Given the description of an element on the screen output the (x, y) to click on. 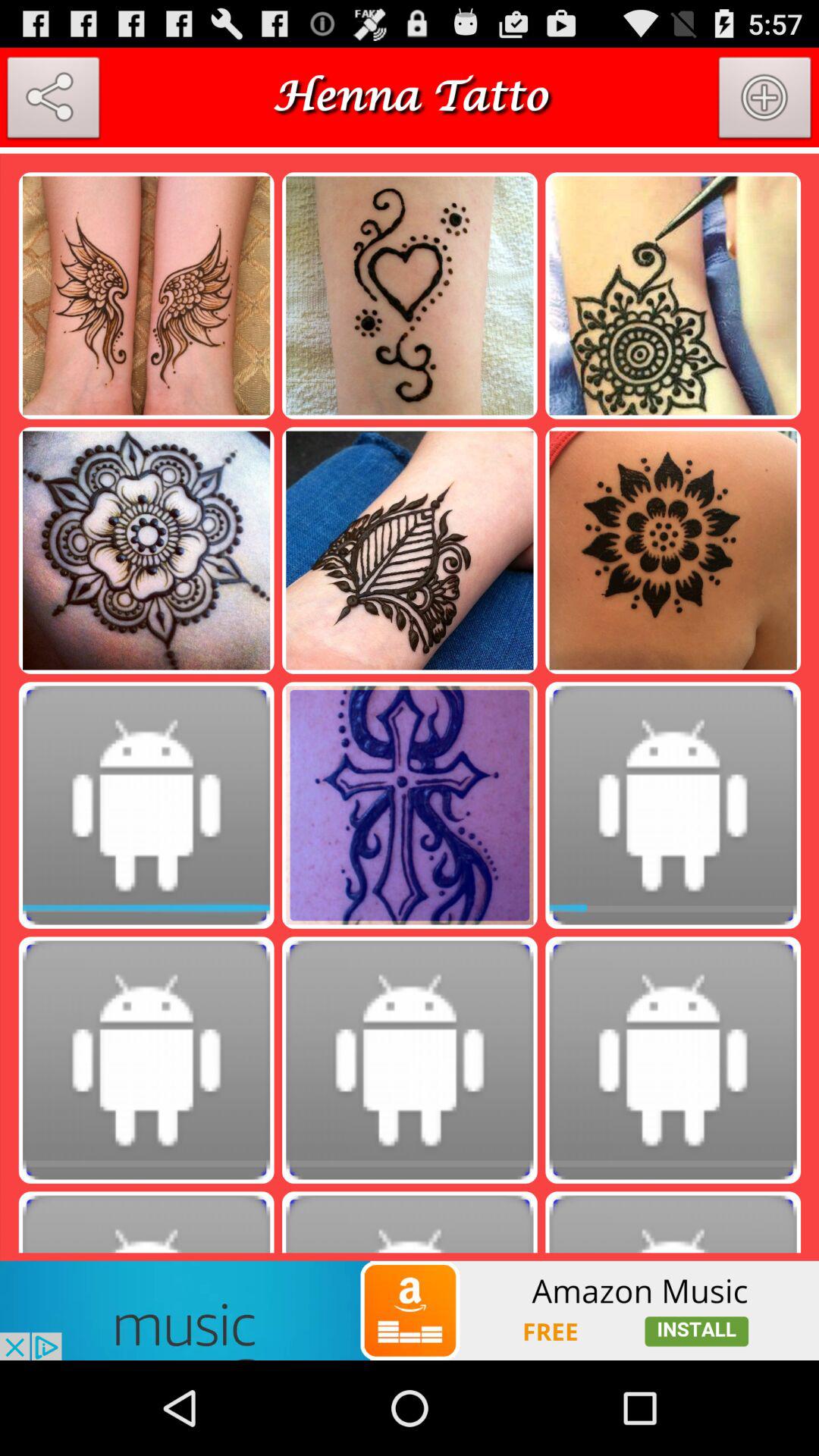
add another design (765, 100)
